Given the description of an element on the screen output the (x, y) to click on. 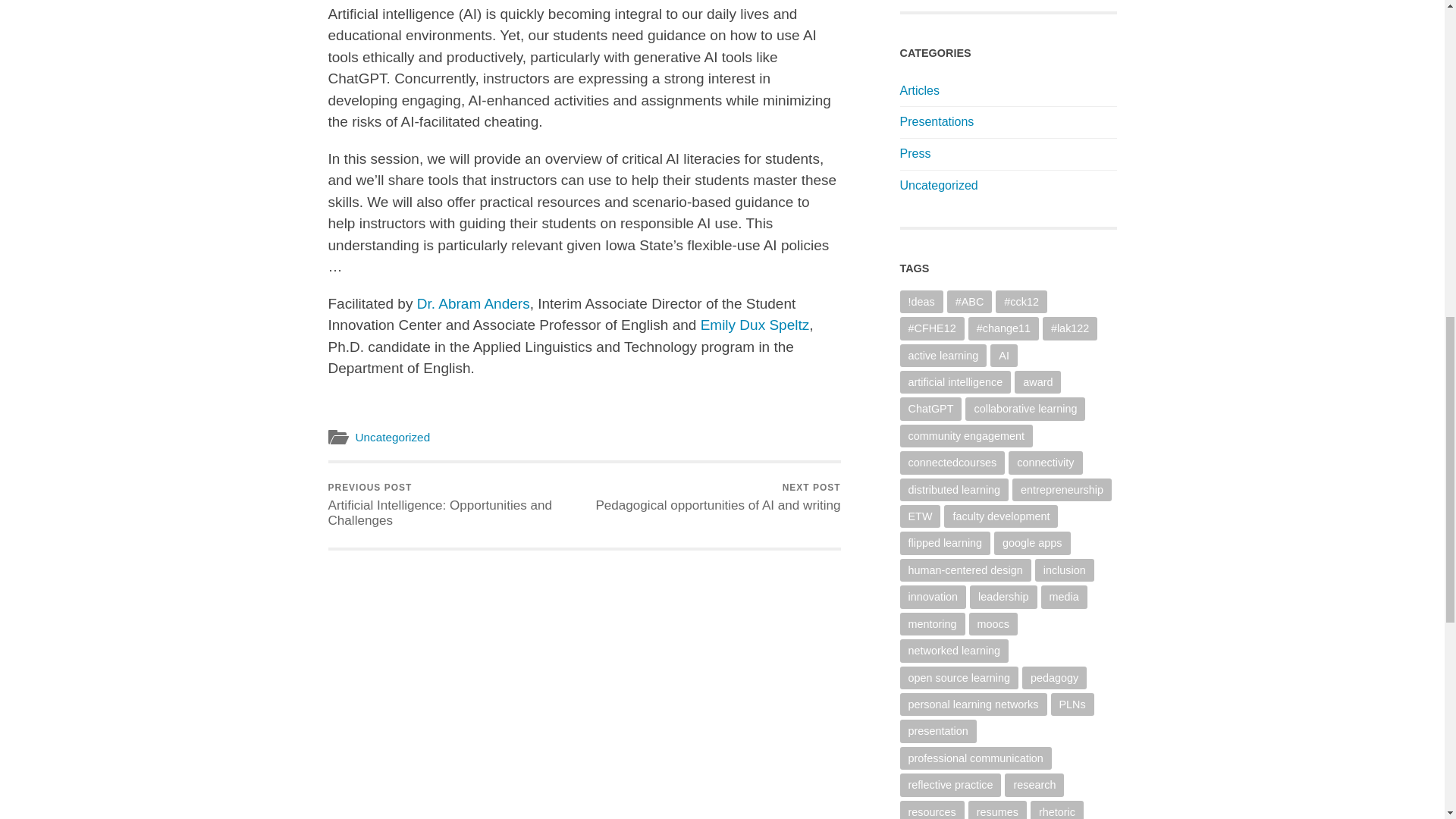
Articles (919, 90)
AI (1003, 354)
Dr. Abram Anders (472, 303)
Emily Dux Speltz (754, 324)
!deas (920, 301)
artificial intelligence (717, 497)
active learning (954, 382)
Uncategorized (943, 354)
Presentations (937, 185)
award (936, 121)
Press (1037, 382)
Uncategorized (914, 153)
